Given the description of an element on the screen output the (x, y) to click on. 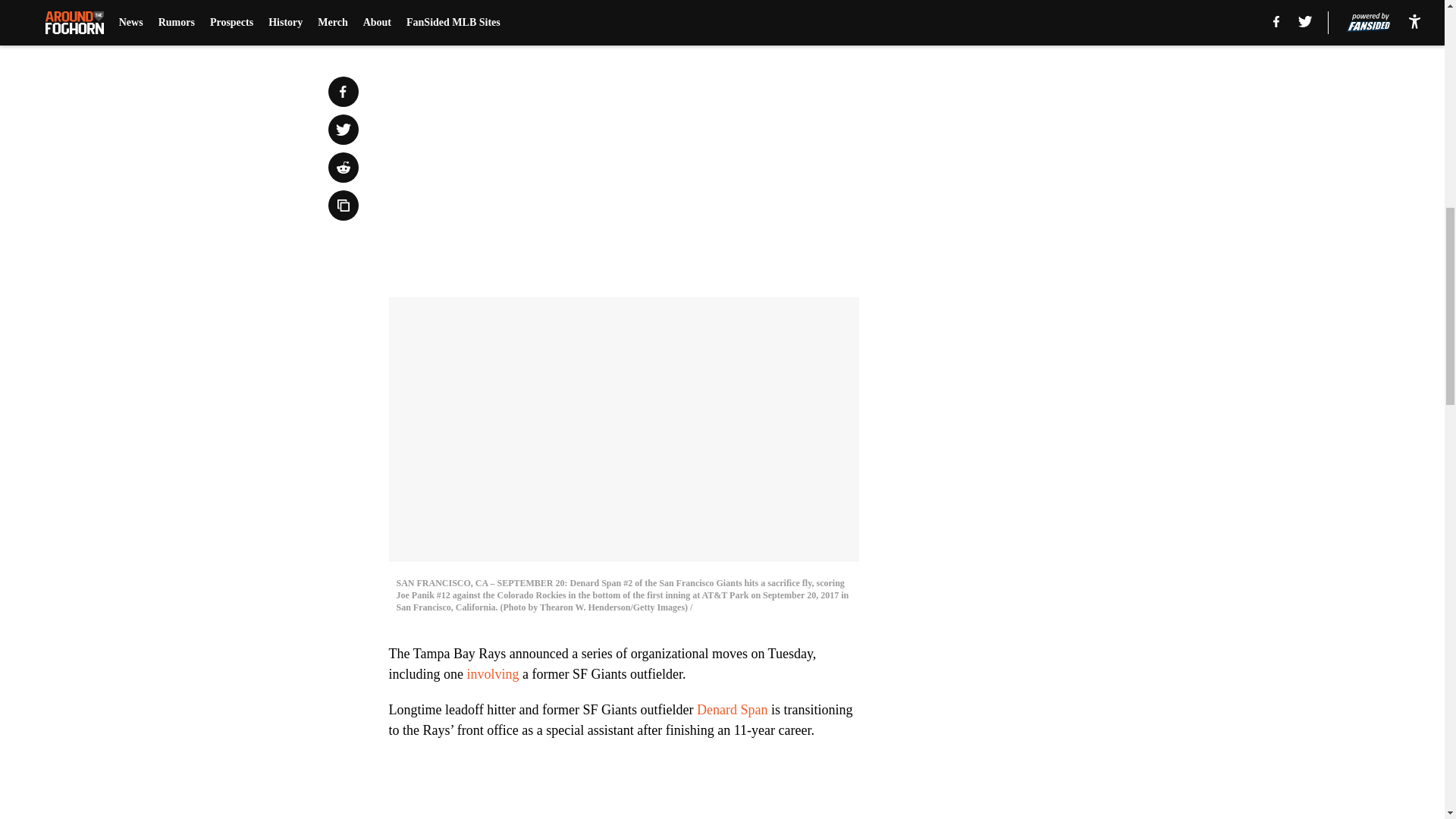
involving (491, 673)
Denard Span (732, 709)
